Given the description of an element on the screen output the (x, y) to click on. 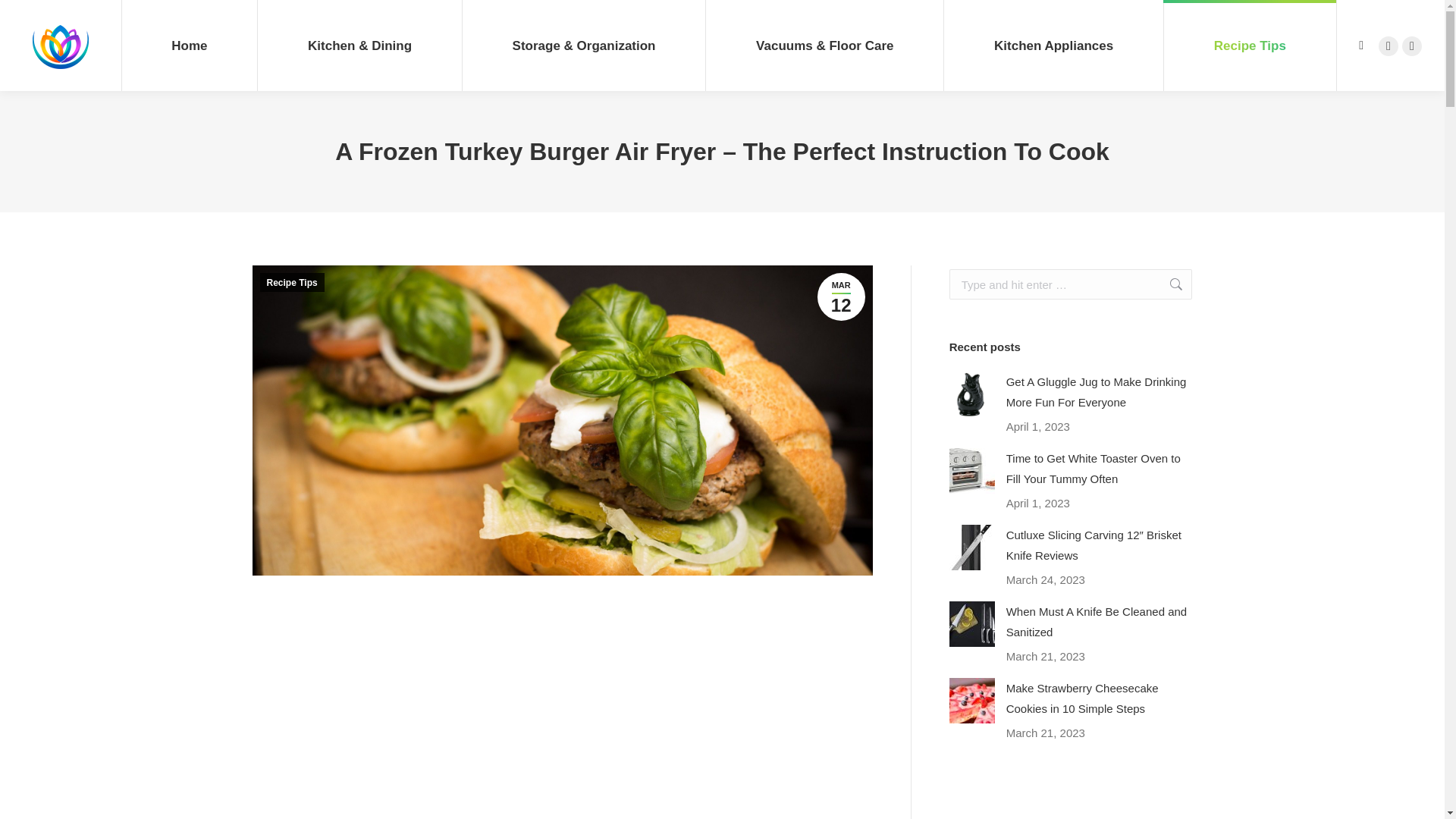
Twitter page opens in new window (1412, 46)
Advertisement (561, 714)
Facebook page opens in new window (1387, 46)
Kitchen Appliances (1053, 45)
Home (188, 45)
Facebook page opens in new window (1387, 46)
4:21 pm (840, 296)
Go! (1168, 284)
Go! (1168, 284)
Go! (24, 17)
Recipe Tips (840, 296)
Twitter page opens in new window (1249, 45)
Recipe Tips (1412, 46)
